Given the description of an element on the screen output the (x, y) to click on. 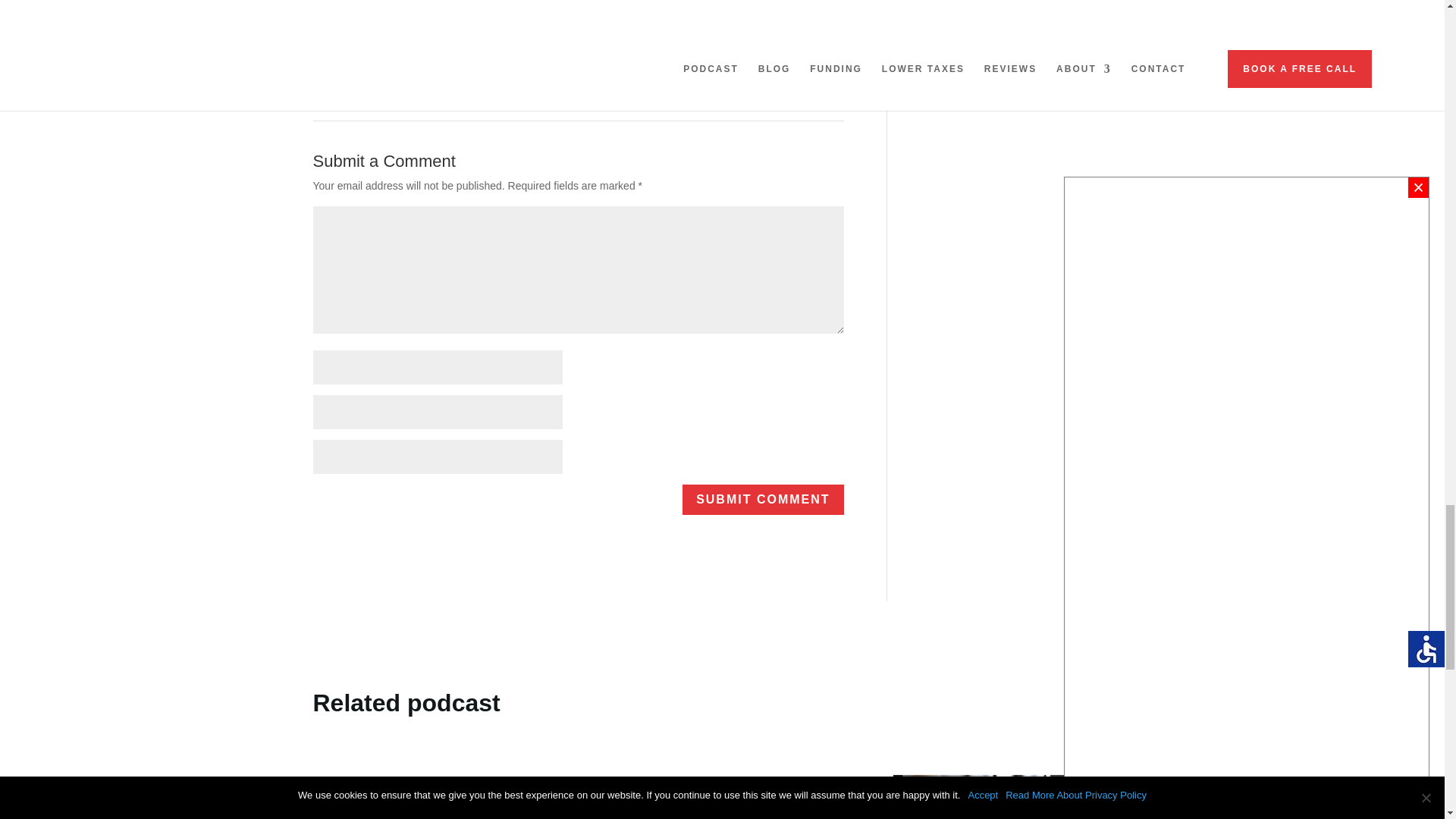
Submit Comment (762, 499)
